Given the description of an element on the screen output the (x, y) to click on. 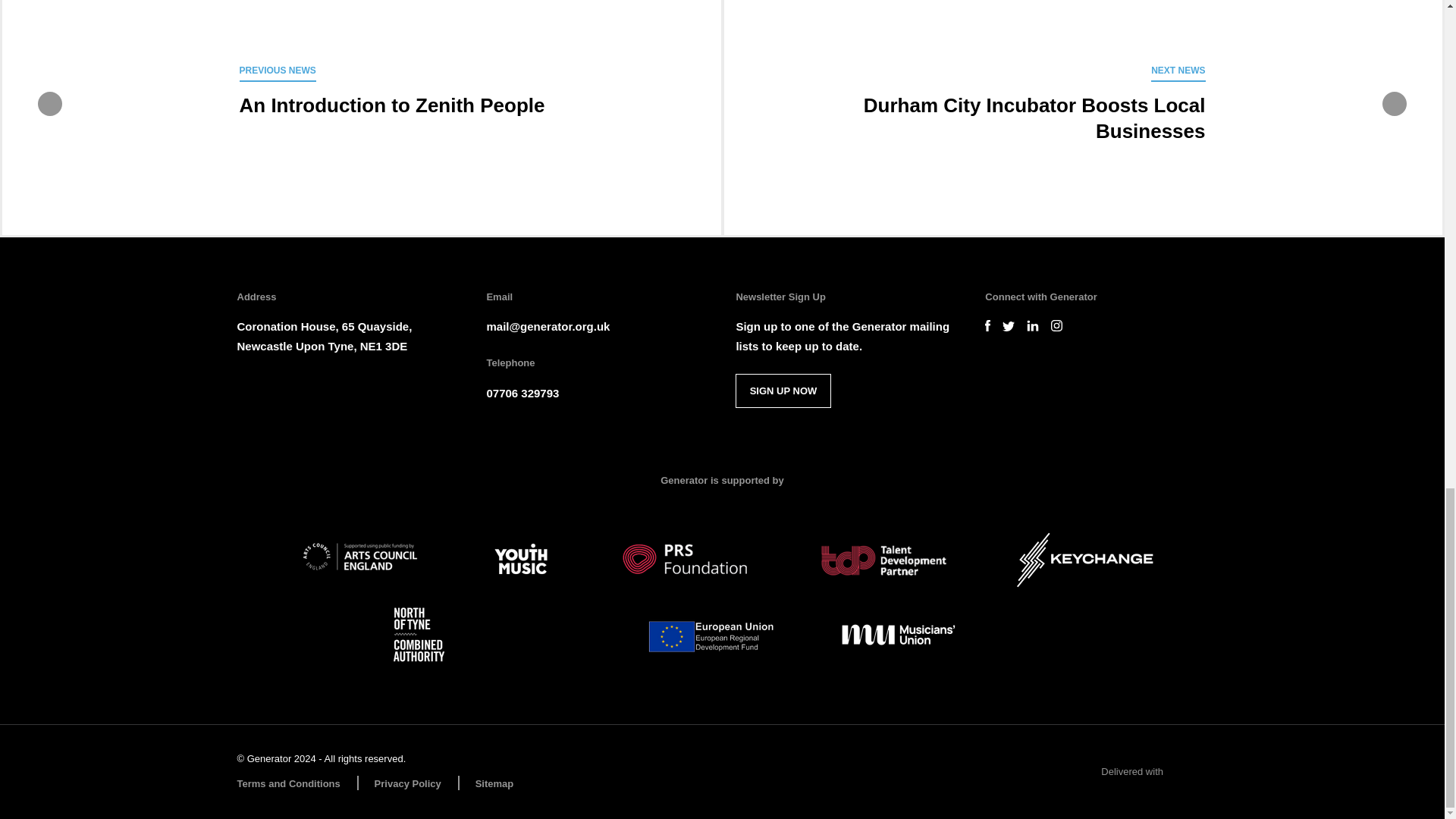
Sign up to receive Generator updates (782, 390)
